Given the description of an element on the screen output the (x, y) to click on. 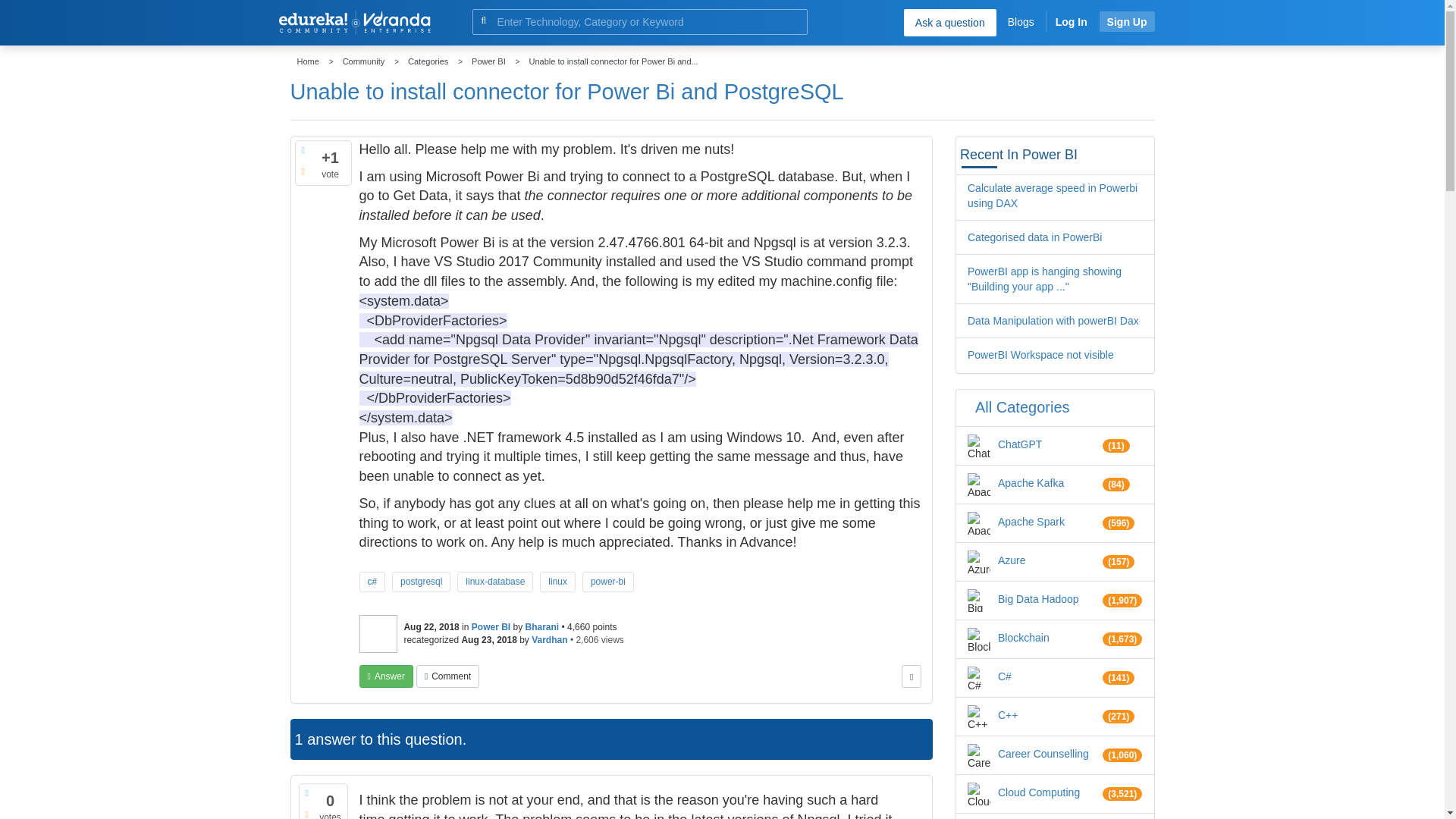
Add a comment on this question (447, 676)
Answer this question (386, 676)
Ask a question (949, 22)
Blogs (1020, 21)
